Given the description of an element on the screen output the (x, y) to click on. 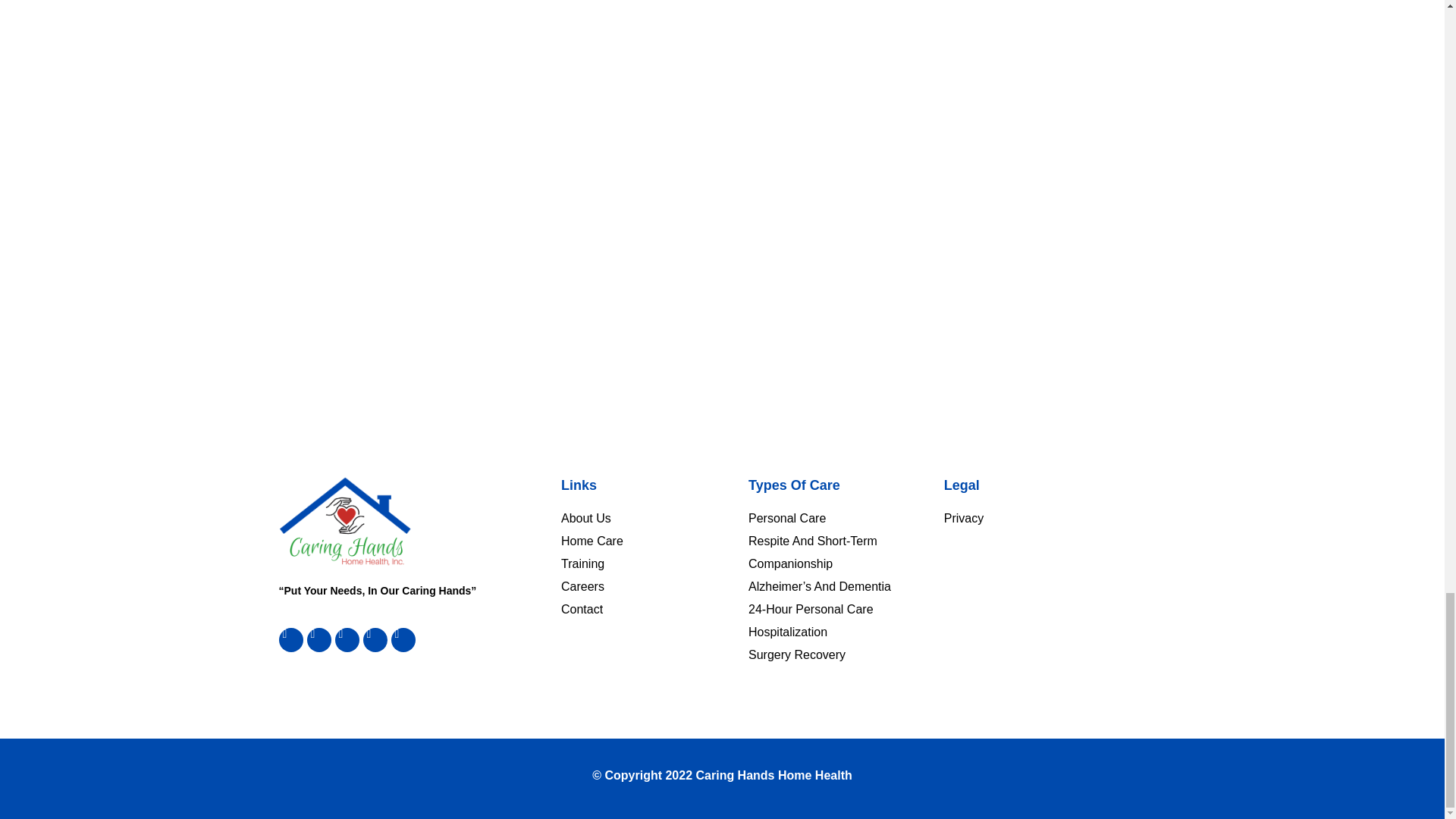
Home Care (654, 540)
About Us (654, 517)
Training (654, 563)
